Given the description of an element on the screen output the (x, y) to click on. 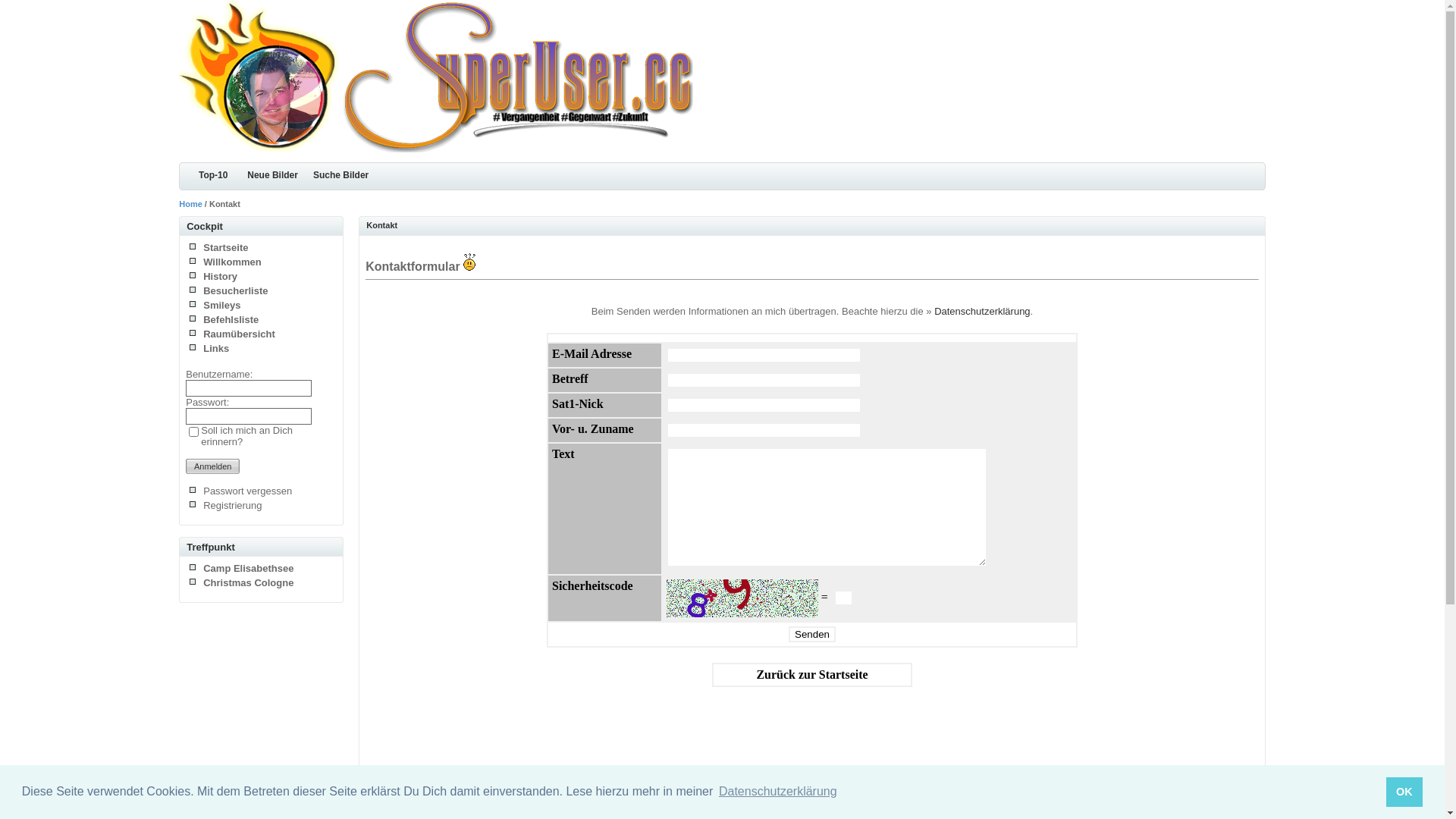
Befehlsliste Element type: text (230, 319)
Links Element type: text (216, 348)
OK Element type: text (1404, 791)
Suche Bilder Element type: text (340, 176)
Camp Elisabethsee Element type: text (248, 568)
Passwort vergessen Element type: text (247, 490)
Anmelden Element type: text (212, 465)
Top-10 Element type: text (208, 176)
Home Element type: text (190, 203)
Startseite Element type: text (225, 247)
History Element type: text (220, 276)
Smileys Element type: text (221, 304)
Willkommen Element type: text (231, 261)
Registrierung Element type: text (232, 505)
Christmas Cologne Element type: text (248, 582)
Neue Bilder Element type: text (272, 176)
Besucherliste Element type: text (235, 290)
